Given the description of an element on the screen output the (x, y) to click on. 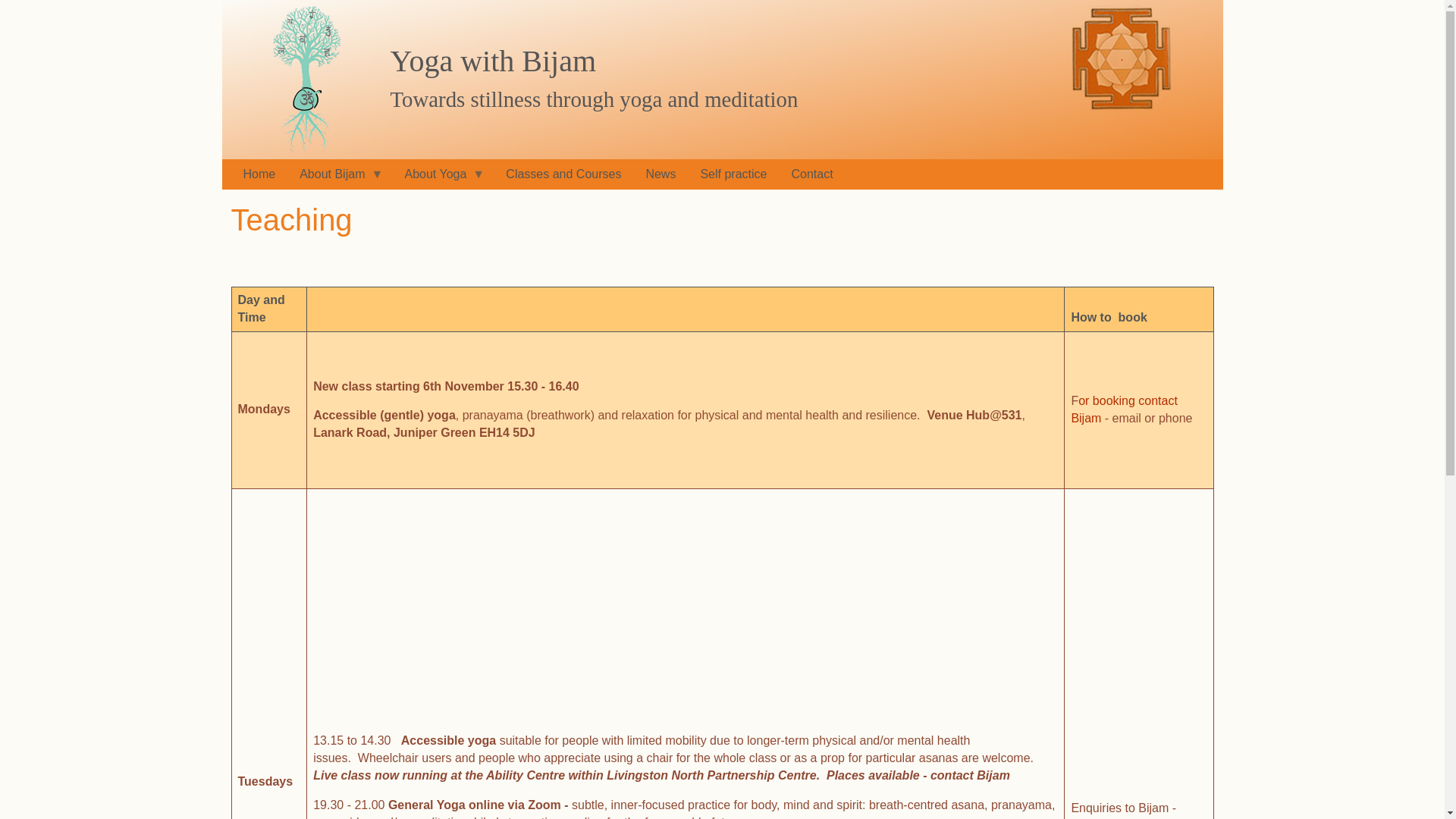
Contact (811, 173)
Self practice (732, 173)
Newsletters from Bijam (660, 173)
Classes and Courses (563, 173)
Home (492, 60)
News (660, 173)
Yoga with Bijam (492, 60)
Home (258, 173)
or booking contact Bijam (1123, 409)
Home (305, 79)
